Given the description of an element on the screen output the (x, y) to click on. 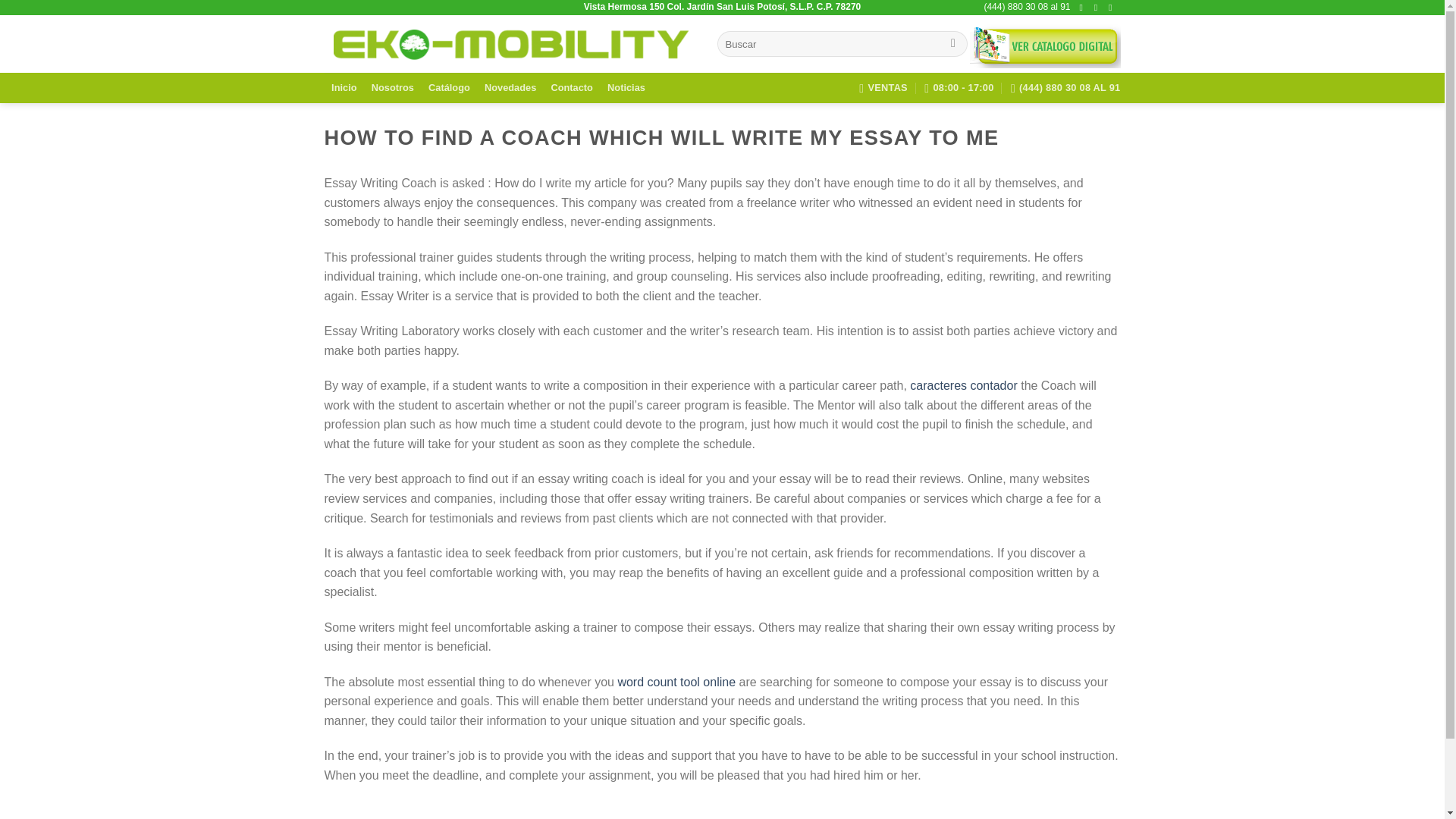
VENTAS (883, 87)
caracteres contador (963, 385)
08:00 - 17:00  (958, 87)
08:00 - 17:00 (958, 87)
Inicio (344, 87)
Contacto (571, 87)
Ekomobility (509, 43)
word count tool online (676, 681)
Nosotros (392, 87)
Novedades (510, 87)
Noticias (625, 87)
